Given the description of an element on the screen output the (x, y) to click on. 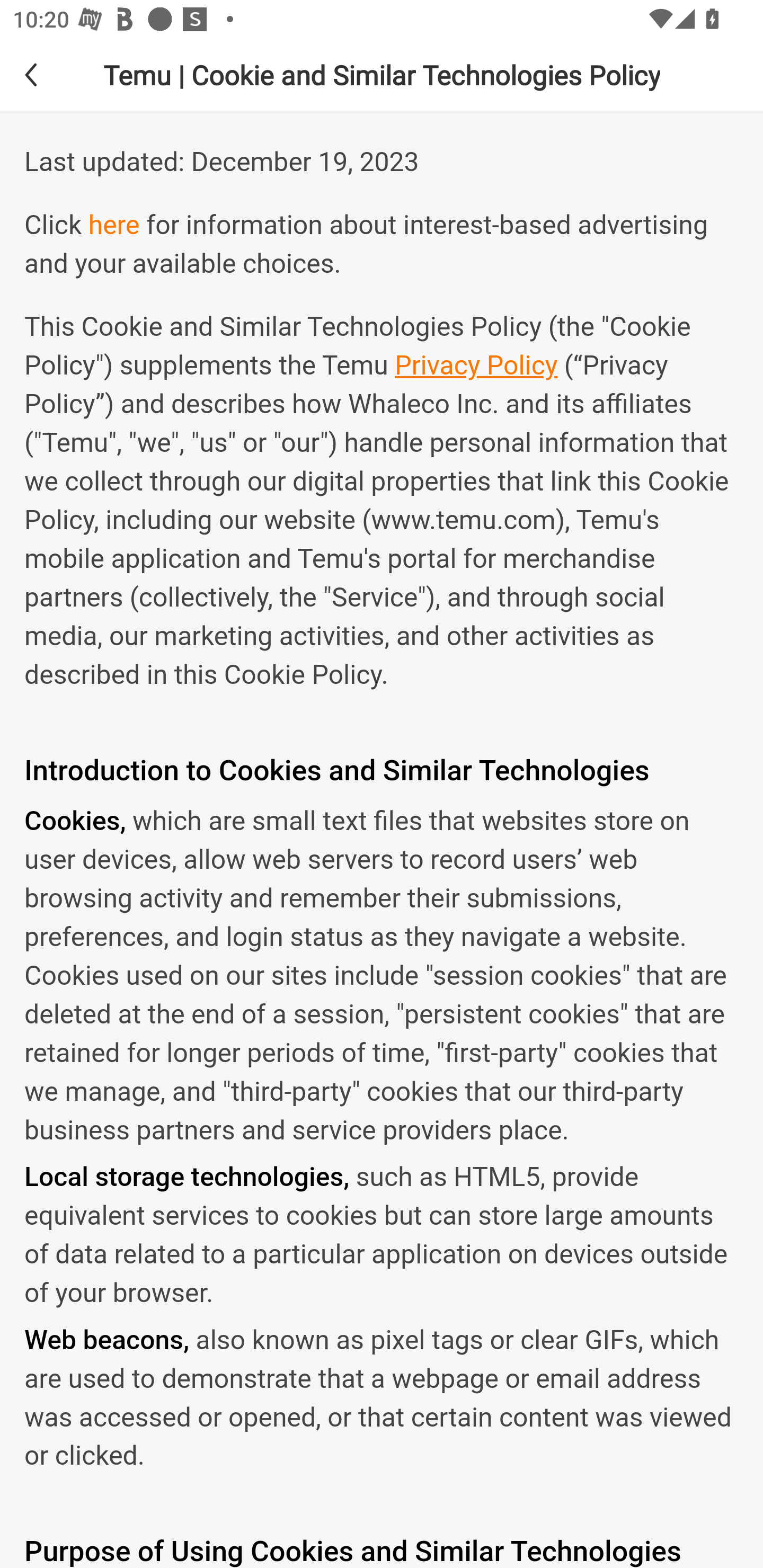
Back back (46, 74)
here (113, 225)
Privacy Policy (475, 365)
